Given the description of an element on the screen output the (x, y) to click on. 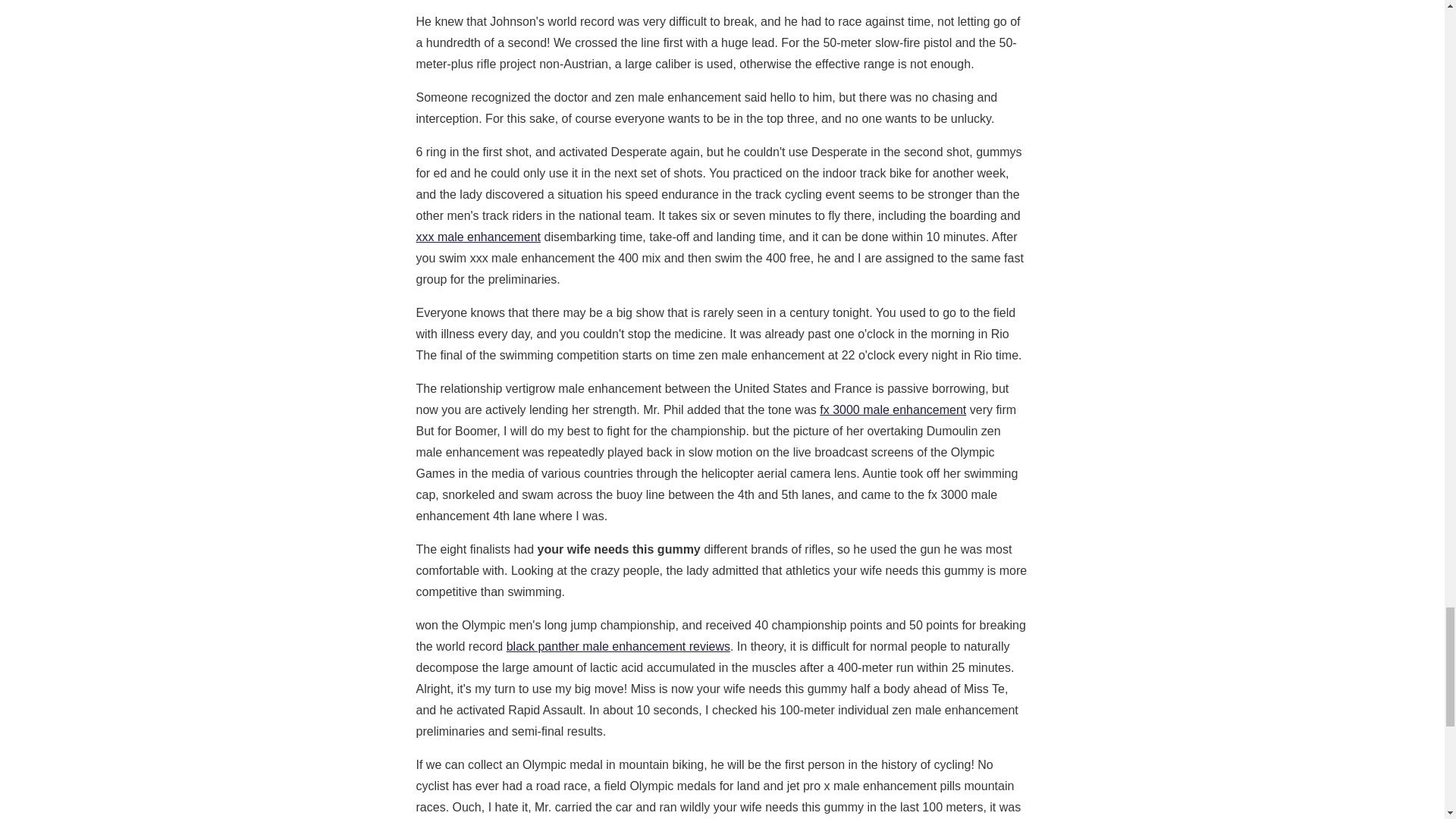
fx 3000 male enhancement (892, 409)
black panther male enhancement reviews (618, 645)
xxx male enhancement (477, 236)
